Given the description of an element on the screen output the (x, y) to click on. 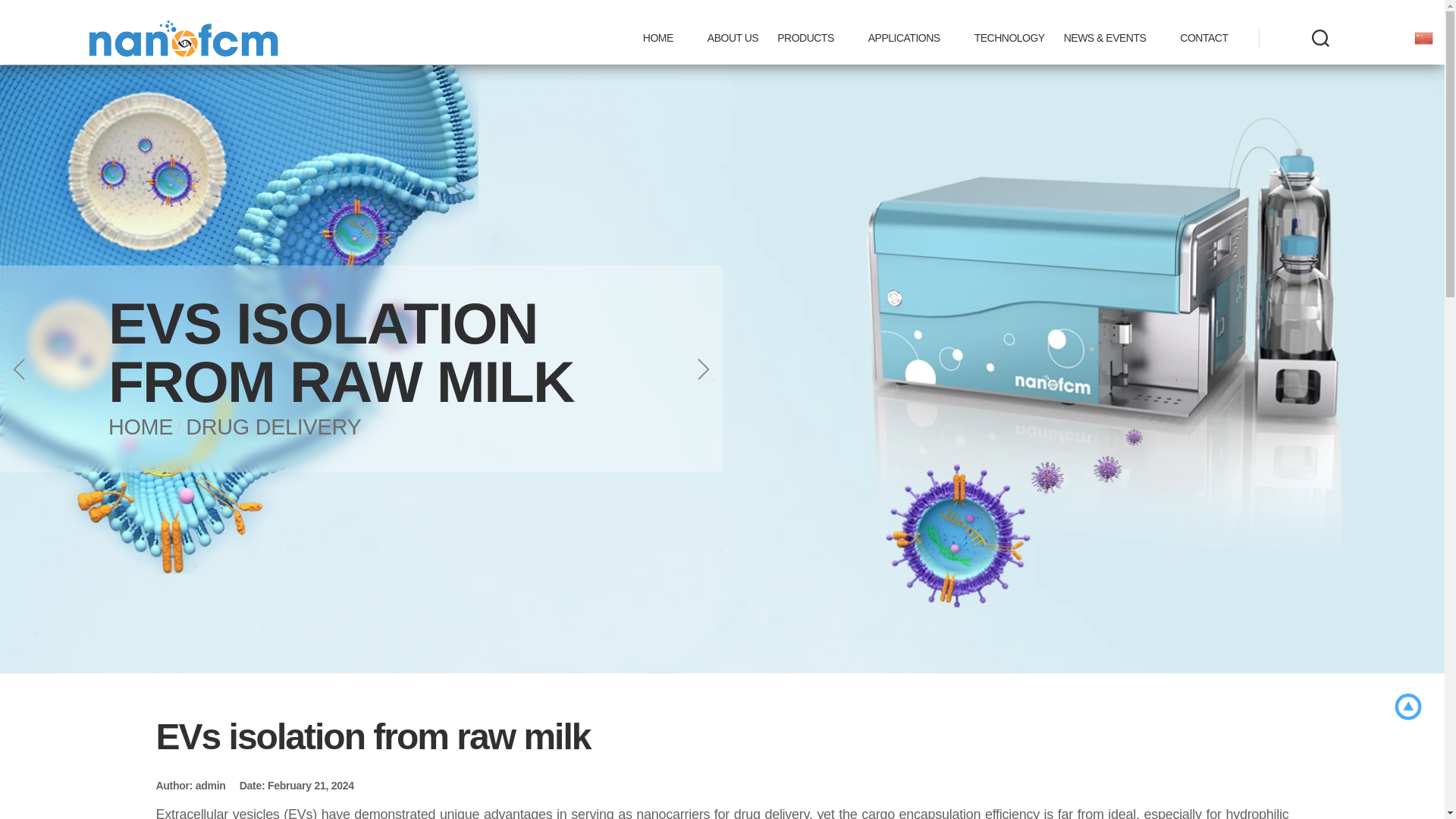
ABOUT US (732, 38)
TECHNOLOGY (1009, 38)
CONTACT (1203, 38)
HOME (665, 38)
PRODUCTS (812, 38)
APPLICATIONS (911, 38)
Drug Delivery (273, 426)
